Given the description of an element on the screen output the (x, y) to click on. 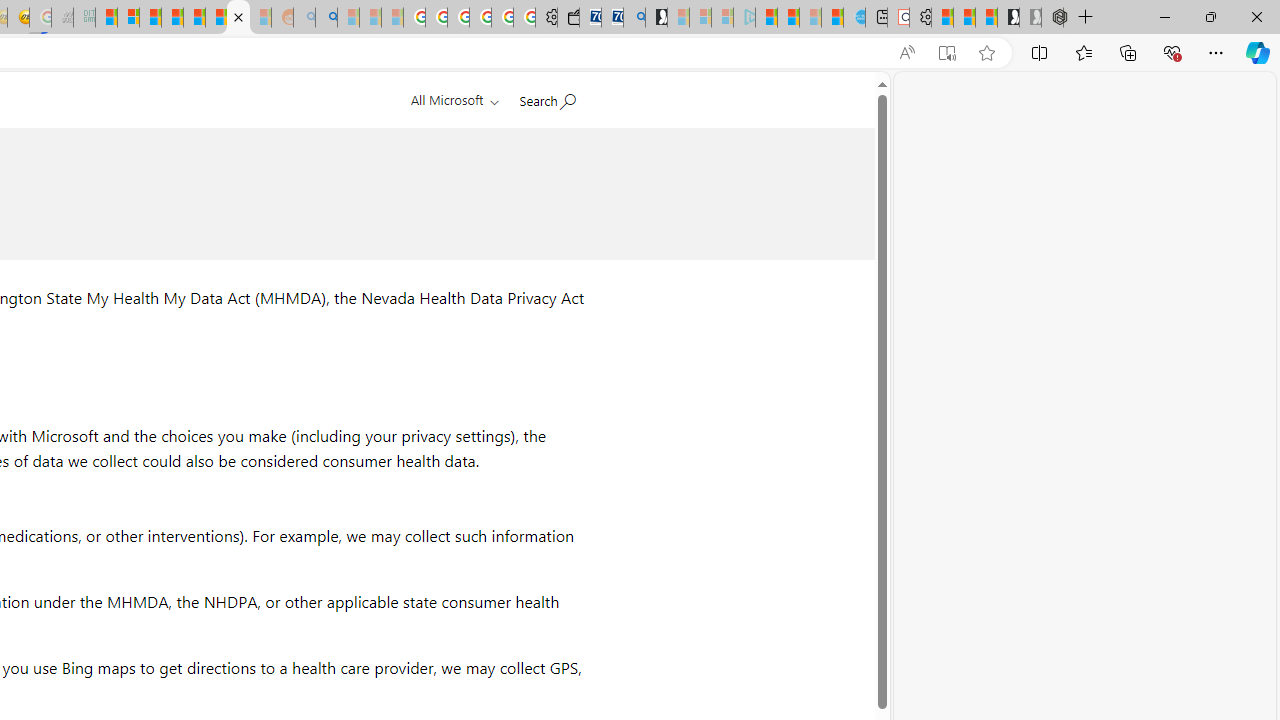
Search Microsoft.com (546, 97)
